Given the description of an element on the screen output the (x, y) to click on. 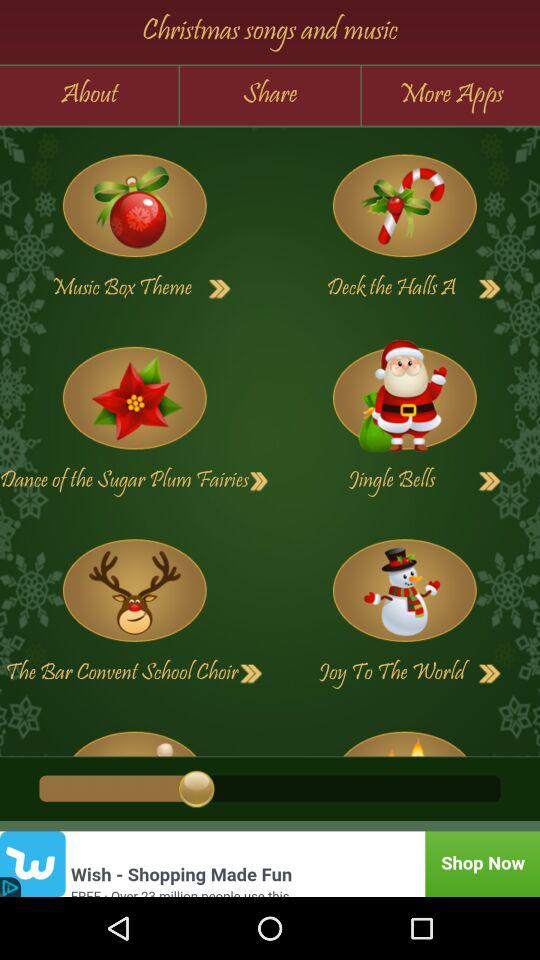
game menu (134, 398)
